Given the description of an element on the screen output the (x, y) to click on. 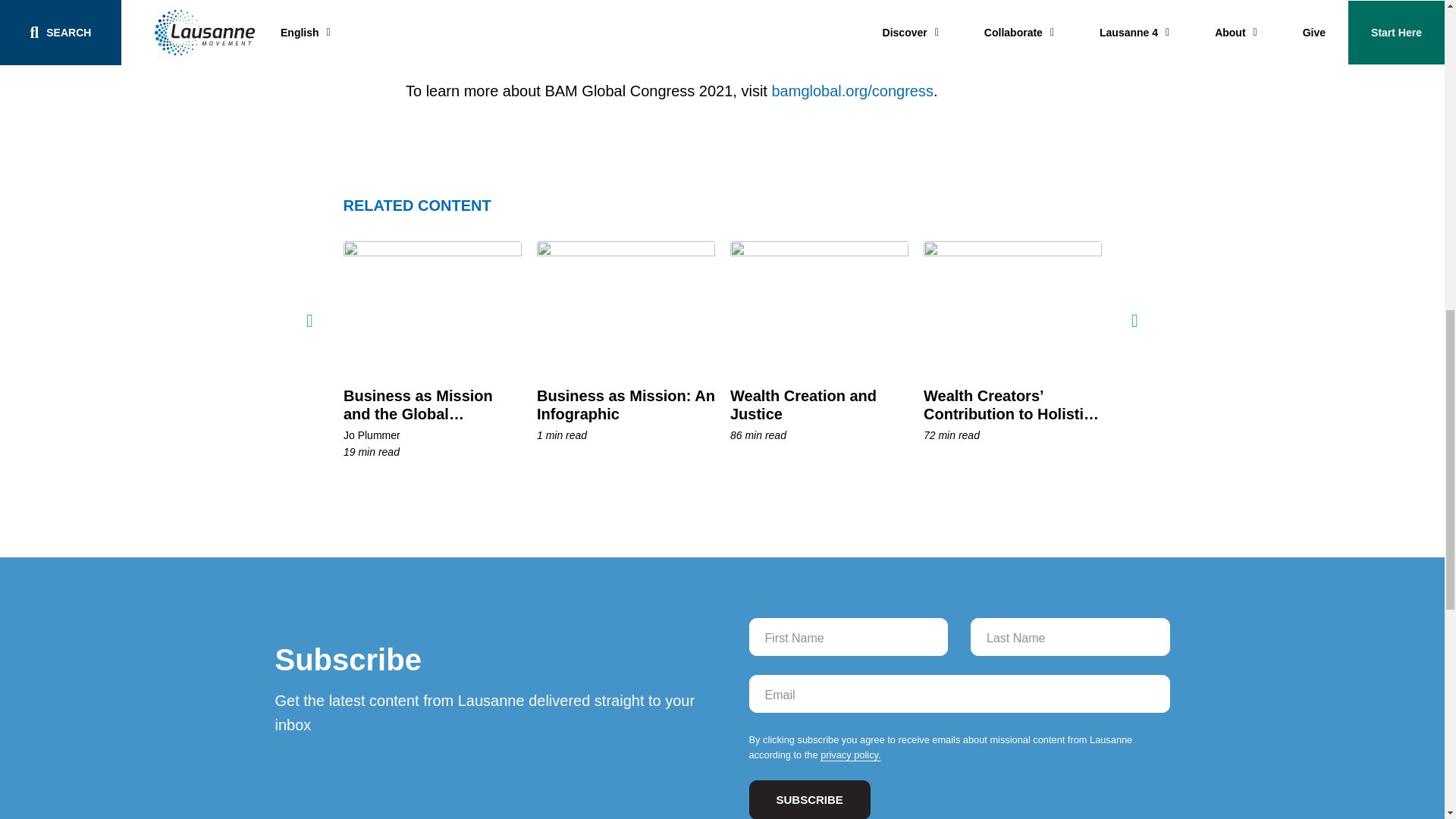
Wealth Creation and the Stewardship of Creation (1203, 404)
Business as Mission and the Global Workplace (417, 413)
Wealth Creation and Justice (818, 305)
Business as Mission and the Global Workplace (431, 305)
Wealth Creation and the Stewardship of Creation (1205, 305)
Wealth Creation and Justice (802, 404)
Subscribe (809, 799)
Business as Mission: An Infographic (625, 404)
Business as Mission: An Infographic (625, 305)
